Given the description of an element on the screen output the (x, y) to click on. 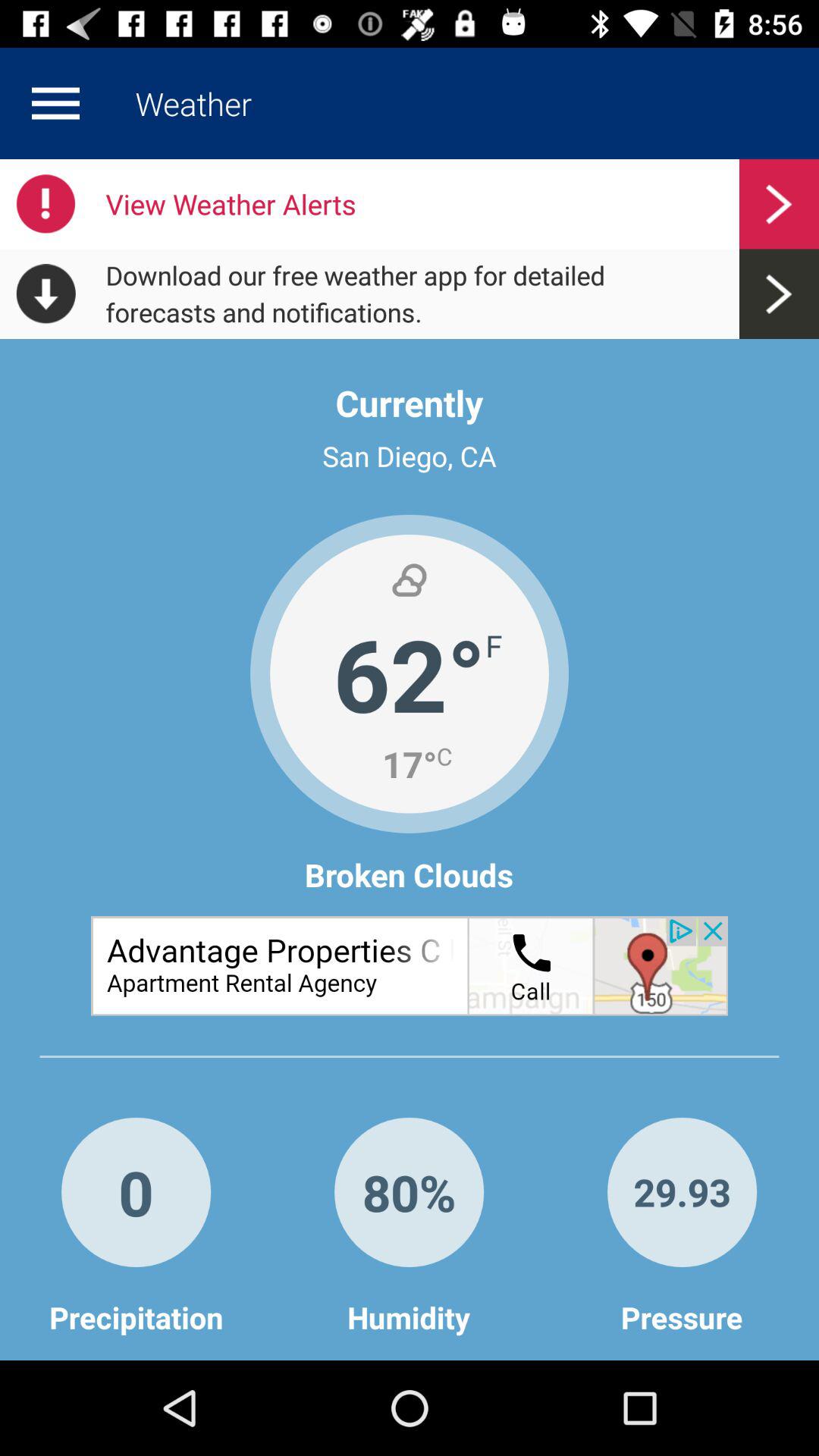
open advertisement (409, 965)
